Given the description of an element on the screen output the (x, y) to click on. 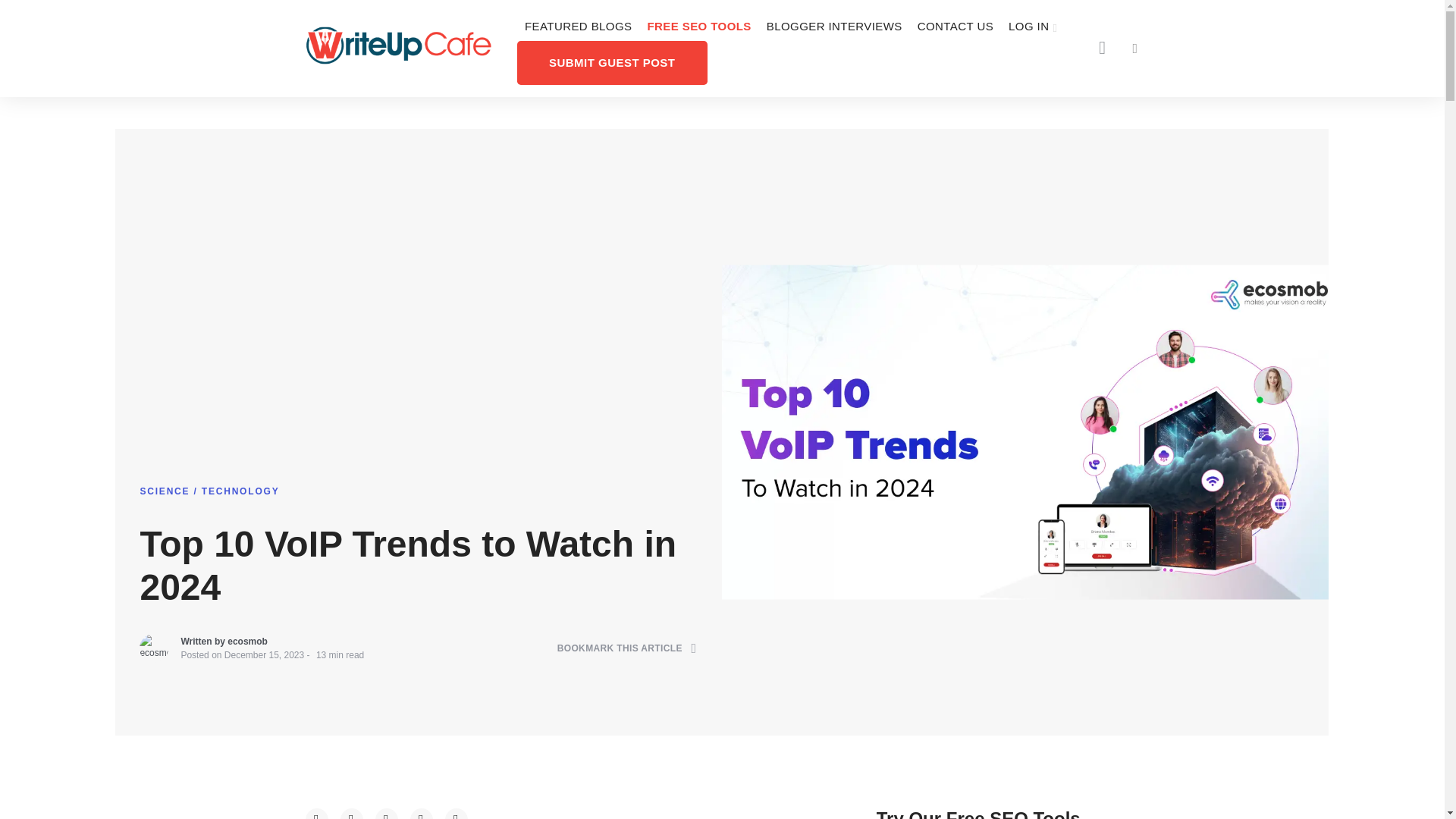
CONTACT US (955, 26)
LOG IN (1032, 26)
BLOGGER INTERVIEWS (834, 26)
SUBMIT GUEST POST (611, 62)
BOOKMARK THIS ARTICLE (627, 657)
ecosmob (247, 652)
December 15, 2023 (264, 665)
FREE SEO TOOLS (698, 26)
LOG IN (1032, 26)
CONTACT US (955, 26)
FEATURED BLOGS (577, 26)
FREE SEO TOOLS (698, 26)
BLOGGER INTERVIEWS (834, 26)
FEATURED BLOGS (577, 26)
SUBMIT GUEST POST (611, 62)
